Given the description of an element on the screen output the (x, y) to click on. 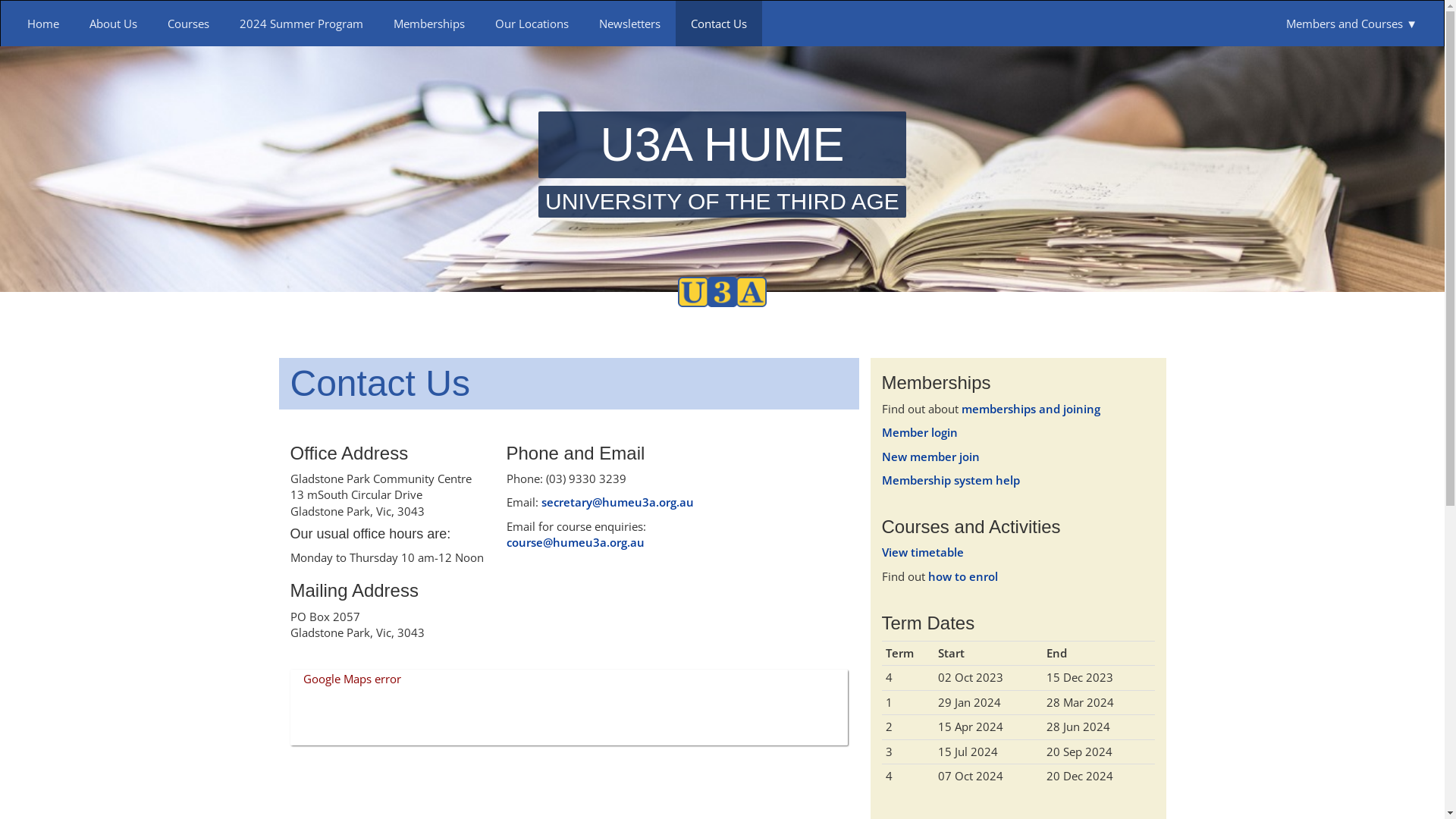
Contact Us Element type: text (718, 23)
Our Locations Element type: text (531, 23)
memberships and joining Element type: text (1030, 408)
secretary@humeu3a.org.au Element type: text (617, 501)
Newsletters Element type: text (629, 23)
Members and Courses Element type: text (1351, 23)
2024 Summer Program Element type: text (301, 23)
Home Element type: text (43, 23)
New member join Element type: text (930, 456)
Memberships Element type: text (429, 23)
how to enrol Element type: text (962, 575)
About Us Element type: text (113, 23)
Courses Element type: text (188, 23)
Membership system help Element type: text (950, 479)
U3A HUME
UNIVERSITY OF THE THIRD AGE Element type: text (722, 163)
course@humeu3a.org.au Element type: text (575, 541)
Member login Element type: text (919, 431)
View timetable Element type: text (922, 551)
